Given the description of an element on the screen output the (x, y) to click on. 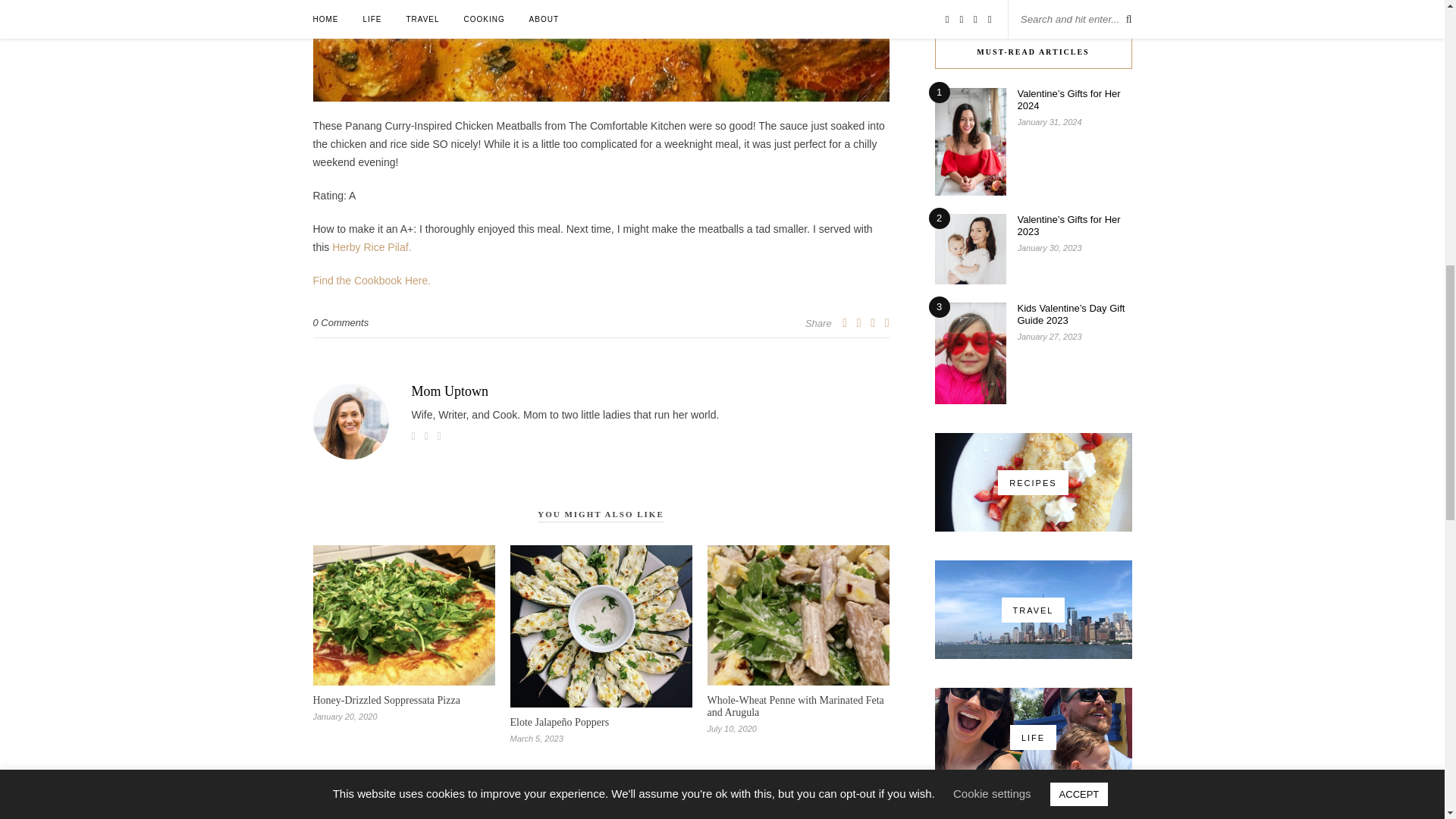
Posts by Mom Uptown (600, 391)
Whole-Wheat Penne with Marinated Feta and Arugula (794, 706)
Find the Cookbook Here (370, 280)
Honey-Drizzled Soppressata Pizza (386, 699)
Mom Uptown (600, 391)
0 Comments (340, 322)
Herby Rice Pilaf. (370, 246)
